Given the description of an element on the screen output the (x, y) to click on. 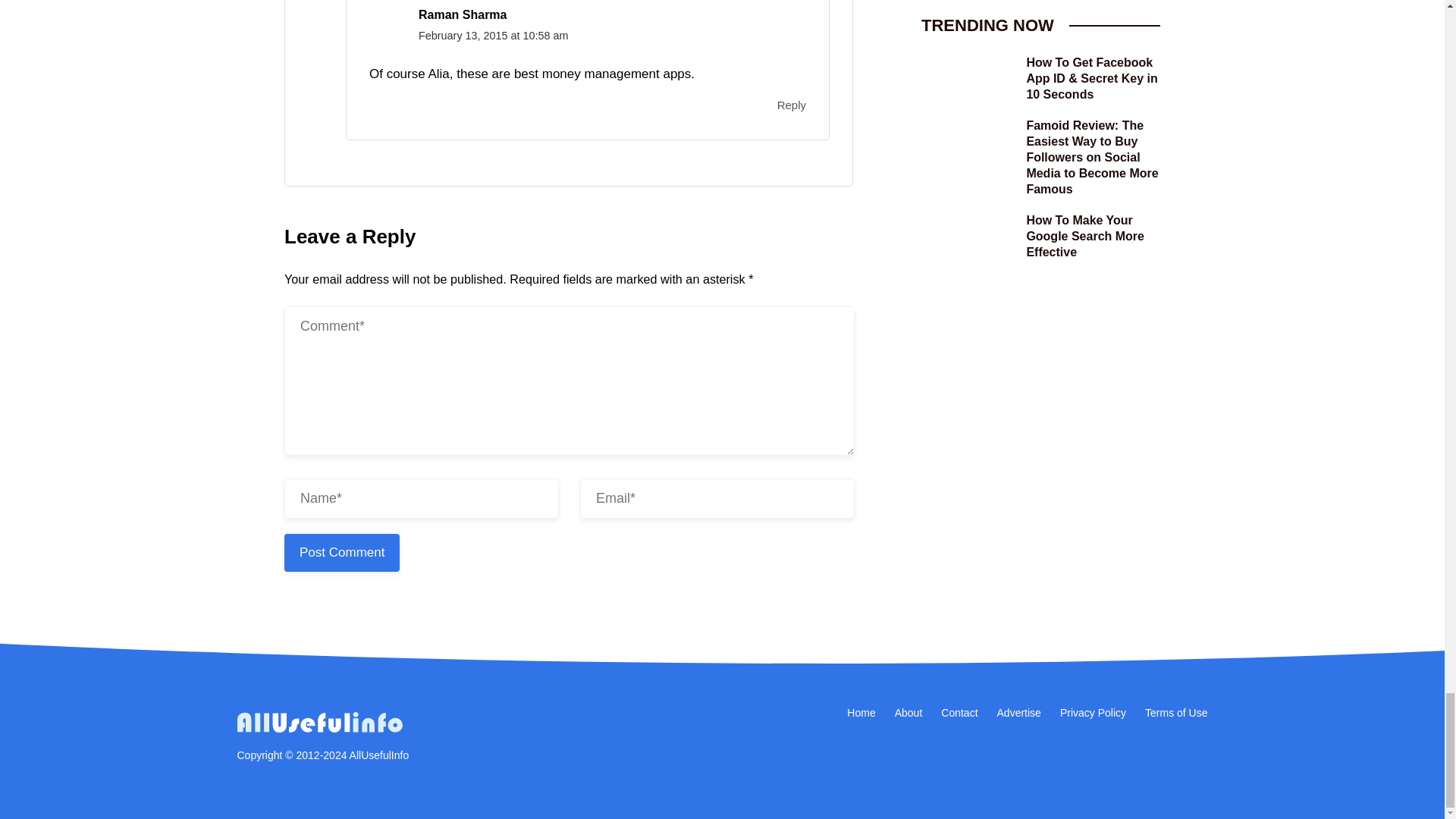
Post Comment (340, 552)
